Given the description of an element on the screen output the (x, y) to click on. 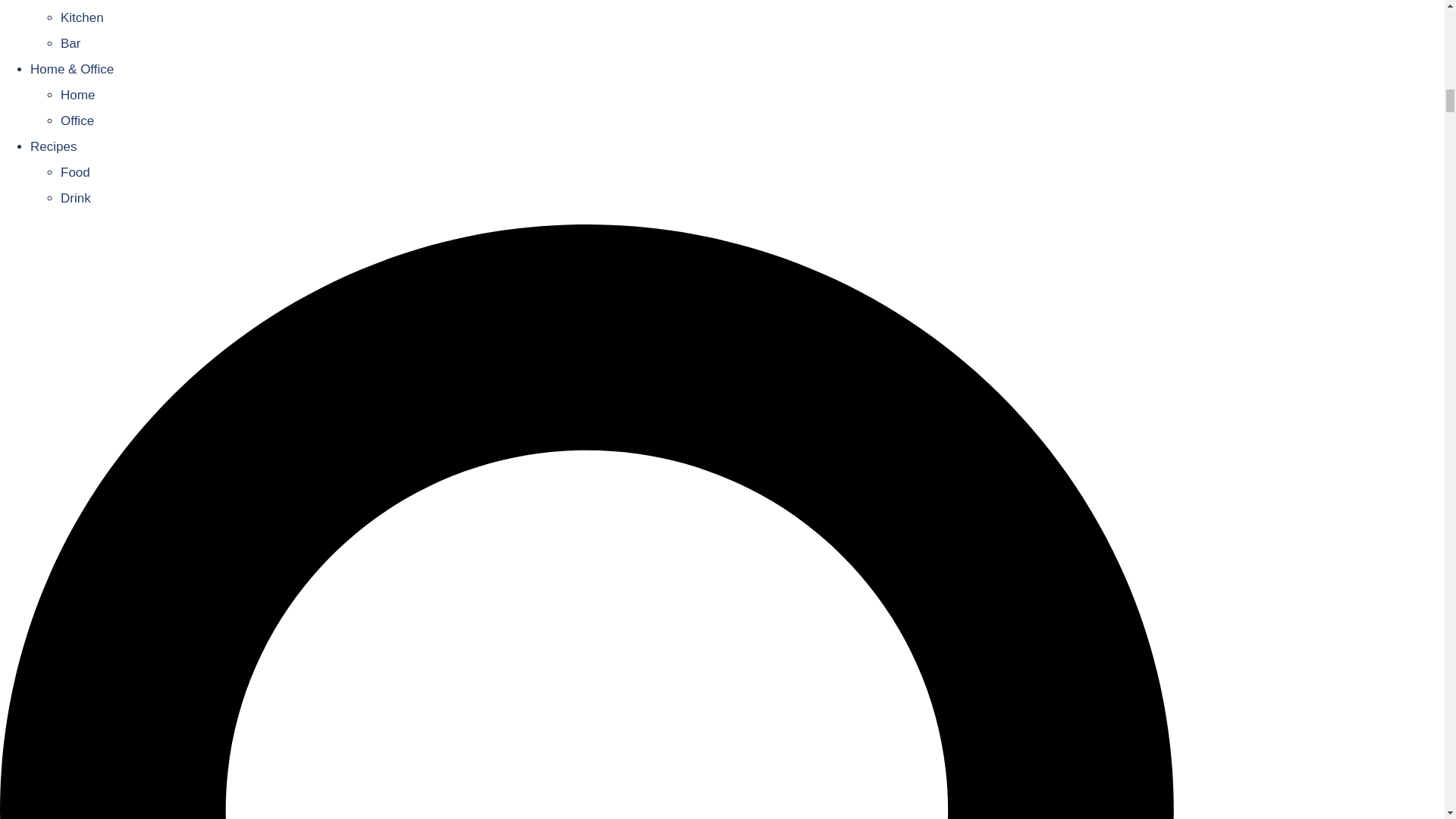
Drink (75, 197)
Kitchen (82, 17)
Food (75, 172)
Office (77, 120)
Bar (70, 43)
Home (77, 94)
Recipes (53, 146)
